Given the description of an element on the screen output the (x, y) to click on. 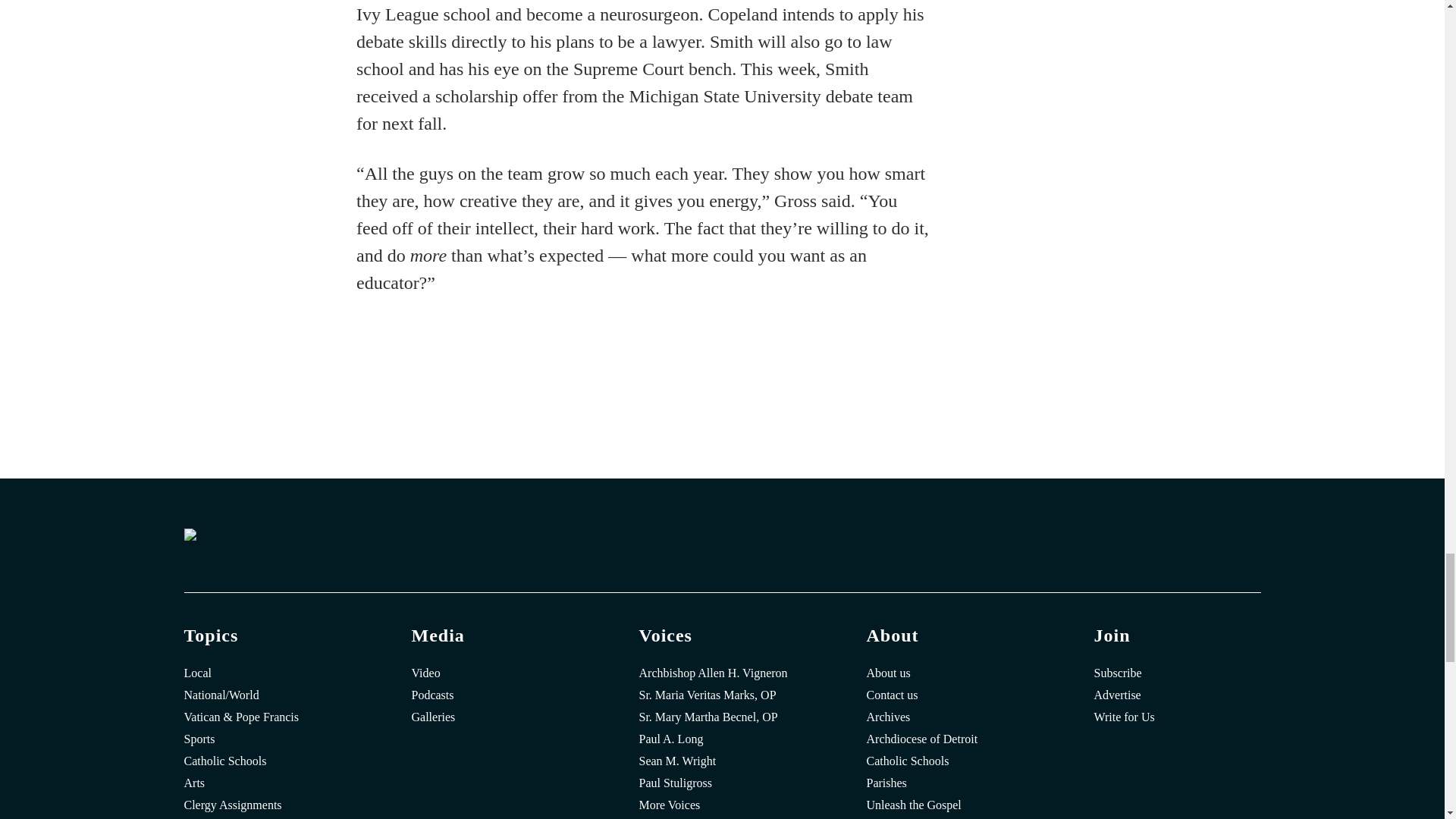
Archbishop Allen H. Vigneron (722, 673)
Sr. Maria Veritas Marks, OP (722, 695)
More Voices (722, 805)
Catholic Schools (266, 761)
Galleries (494, 717)
Sean M. Wright (722, 761)
Arts (266, 782)
Sr. Mary Martha Becnel, OP (722, 717)
Paul Stuligross (722, 782)
